Given the description of an element on the screen output the (x, y) to click on. 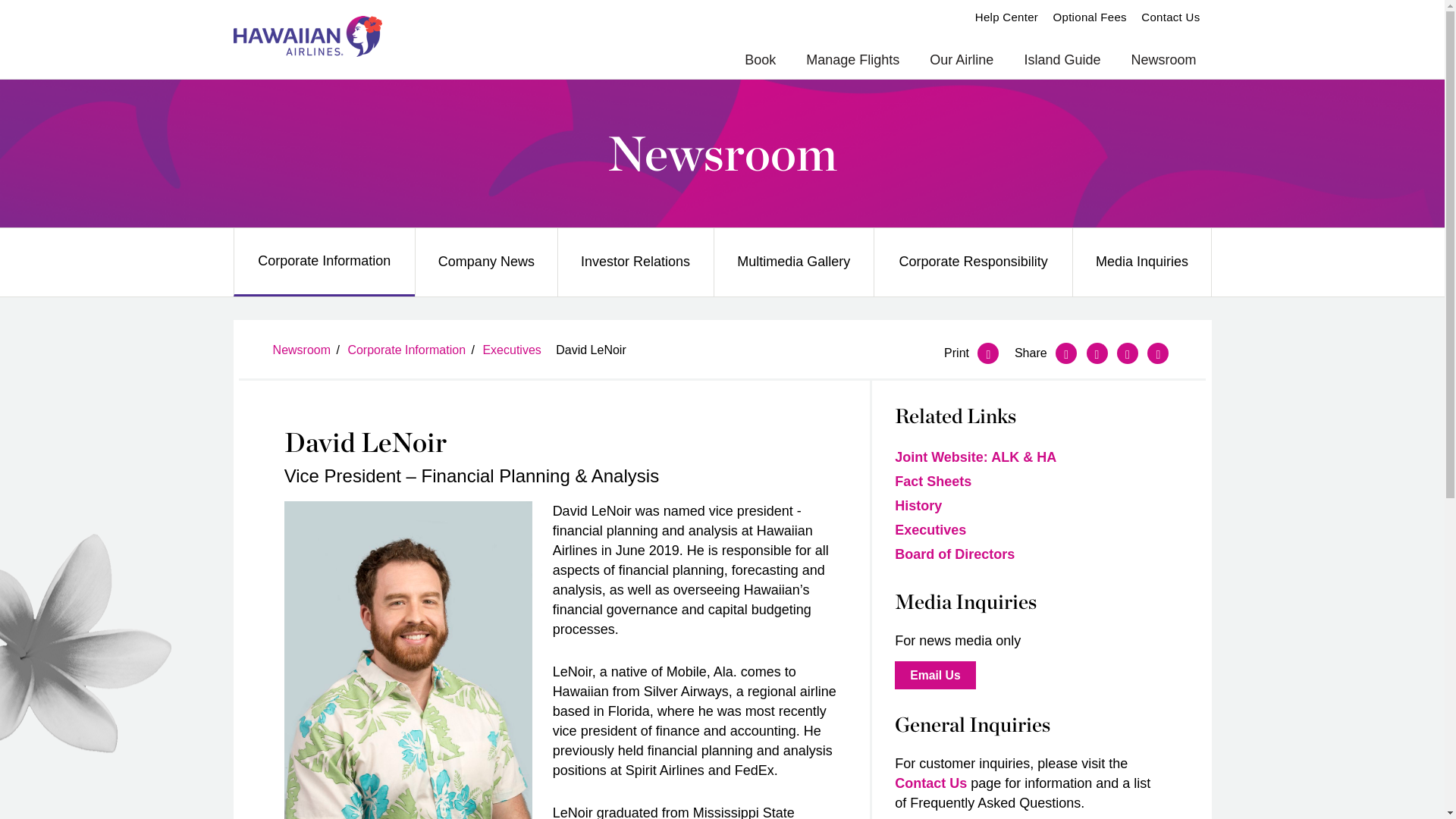
Island Guide (1061, 61)
Newsroom (722, 152)
Help Center (1006, 16)
Optional Fees (1089, 16)
Multimedia Gallery (793, 261)
Investor Relations (635, 261)
Book (760, 61)
Hawaiian Airlines (306, 35)
Corporate Information (323, 261)
Contact Us (1170, 16)
Corporate Responsibility (974, 261)
Newsroom (1163, 61)
Company News (485, 261)
Manage Flights (852, 61)
Our Airline (961, 61)
